Given the description of an element on the screen output the (x, y) to click on. 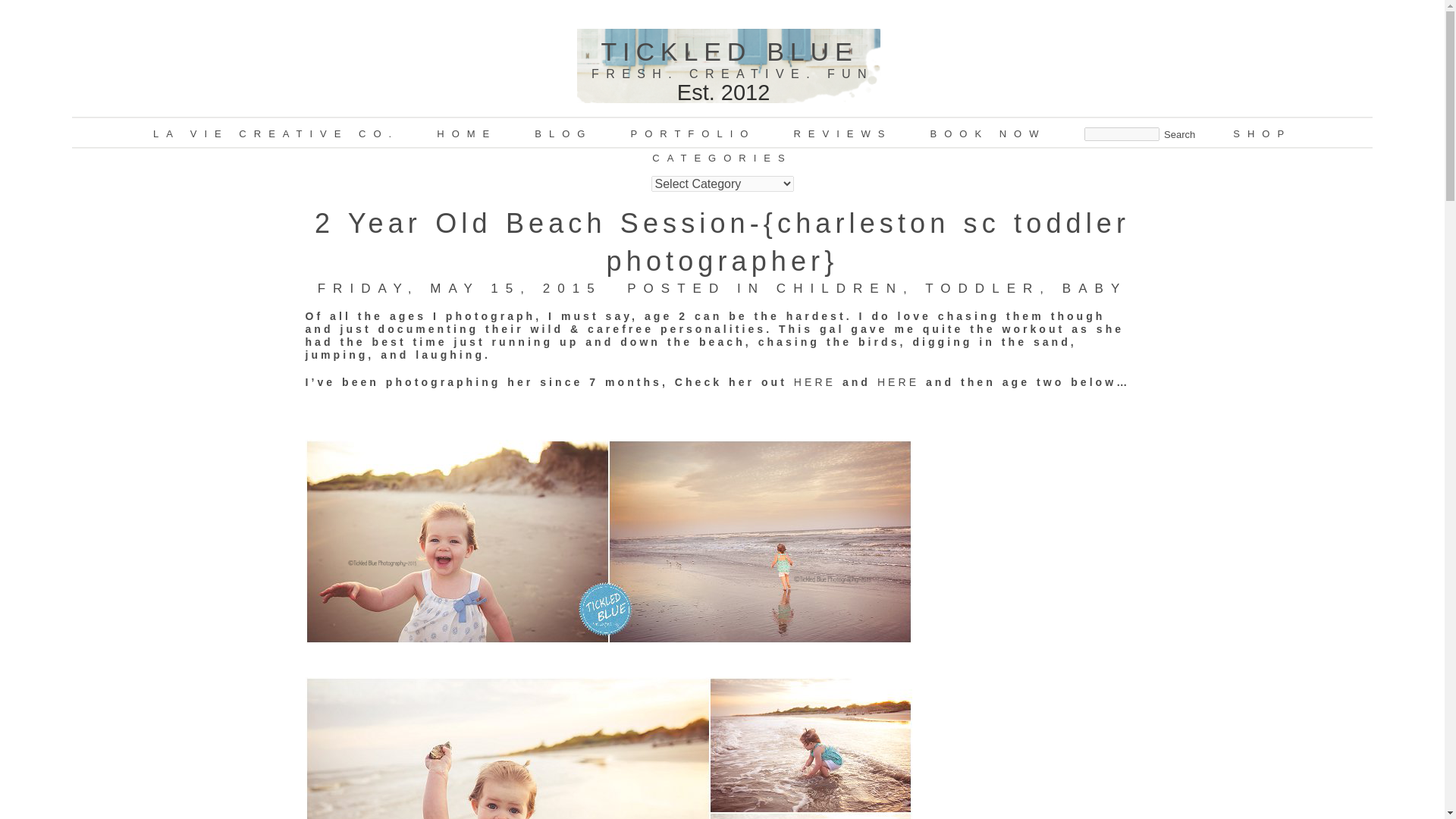
Search (1179, 134)
Search (1179, 134)
HERE (901, 381)
HERE (814, 381)
BOOK NOW (987, 133)
Search (1179, 134)
REVIEWS (842, 133)
LA VIE CREATIVE CO. (275, 133)
HOME (466, 133)
SHOP (1262, 133)
PORTFOLIO (692, 133)
BLOG (563, 133)
CHILDREN, TODDLER, BABY (951, 288)
